Given the description of an element on the screen output the (x, y) to click on. 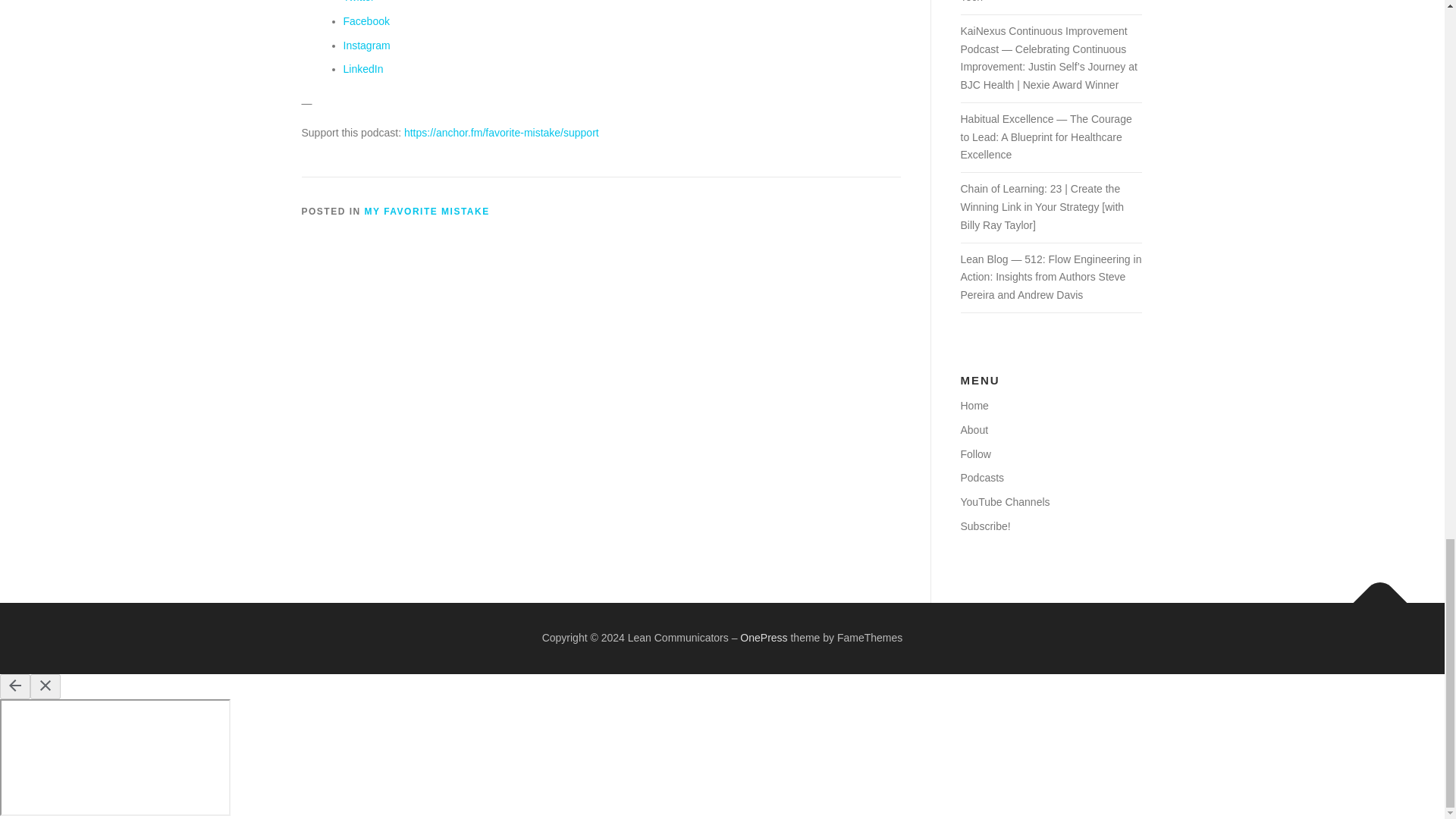
MY FAVORITE MISTAKE (427, 211)
Instagram (366, 45)
LinkedIn (362, 69)
Twitter (358, 1)
Facebook (365, 21)
Back To Top (1372, 594)
